Given the description of an element on the screen output the (x, y) to click on. 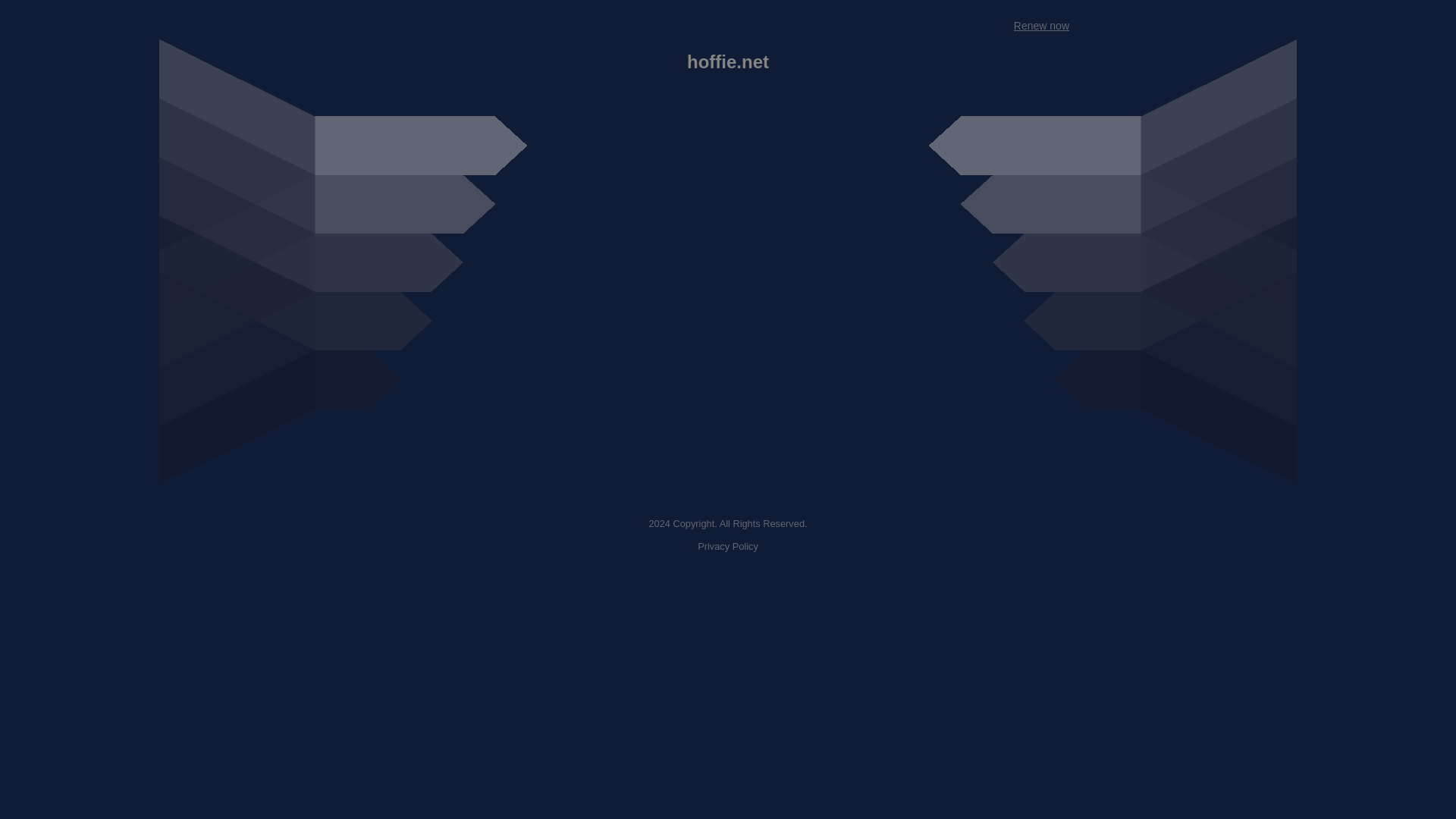
Renew now (1040, 25)
Privacy Policy (727, 546)
